Given the description of an element on the screen output the (x, y) to click on. 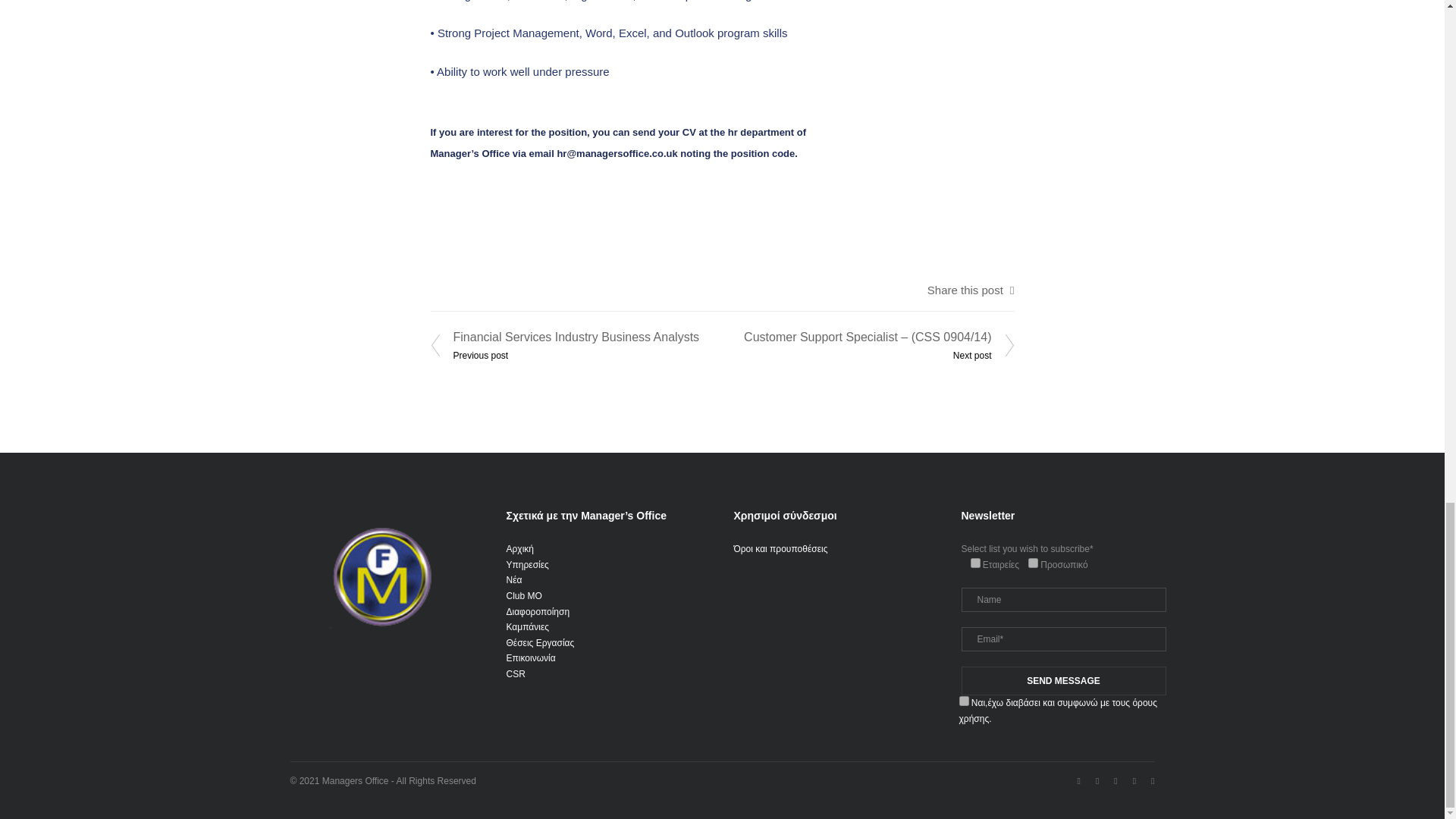
Staff (1032, 562)
Companies (975, 562)
SEND MESSAGE (1063, 680)
